Given the description of an element on the screen output the (x, y) to click on. 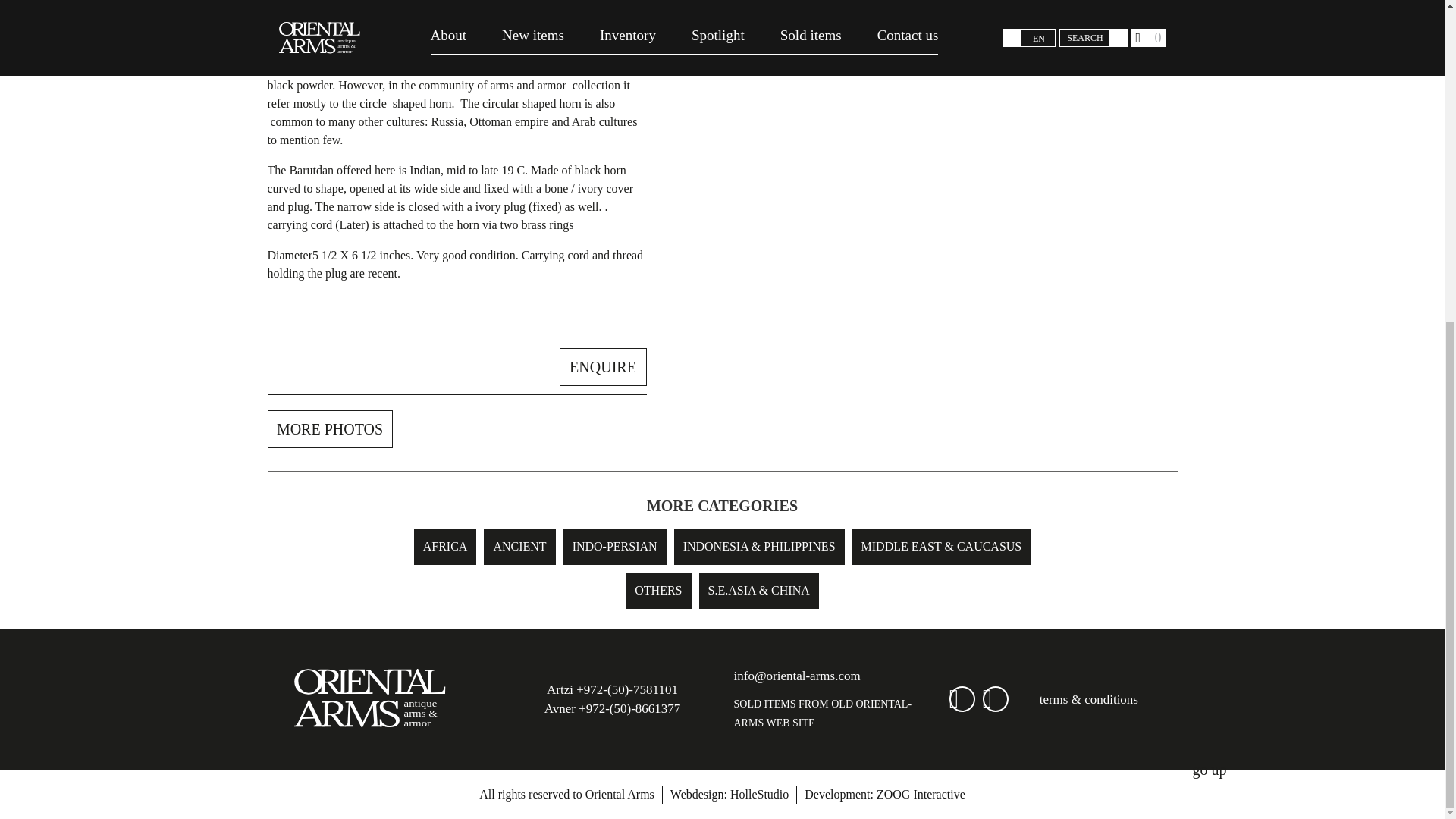
ANCIENT (519, 546)
MORE PHOTOS (328, 428)
go up (1208, 243)
go up (1208, 243)
ENQUIRE (602, 366)
AFRICA (445, 546)
